Given the description of an element on the screen output the (x, y) to click on. 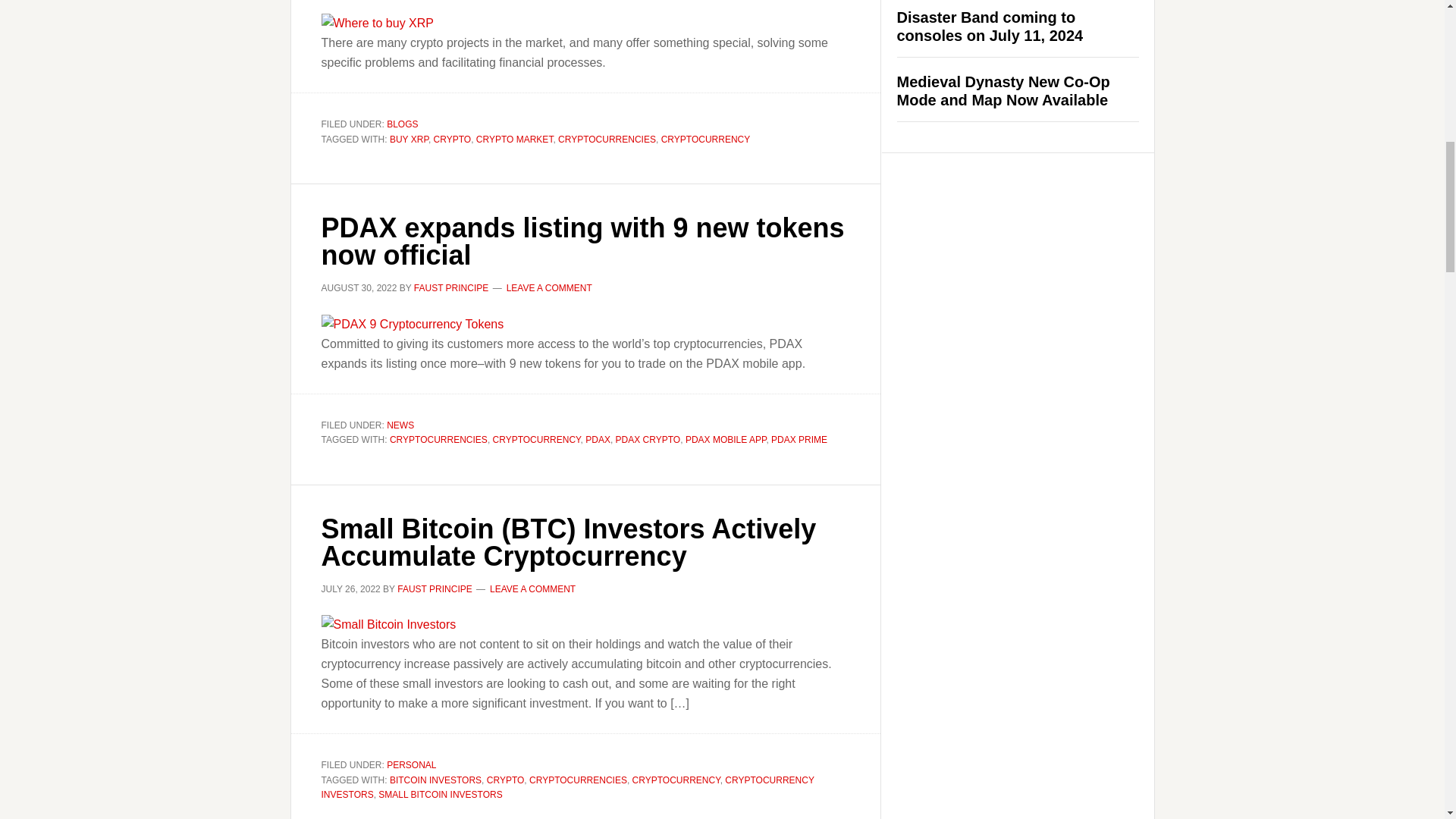
BUY XRP (409, 138)
CRYPTO (452, 138)
CRYPTO MARKET (514, 138)
CRYPTOCURRENCIES (606, 138)
BLOGS (402, 123)
